Given the description of an element on the screen output the (x, y) to click on. 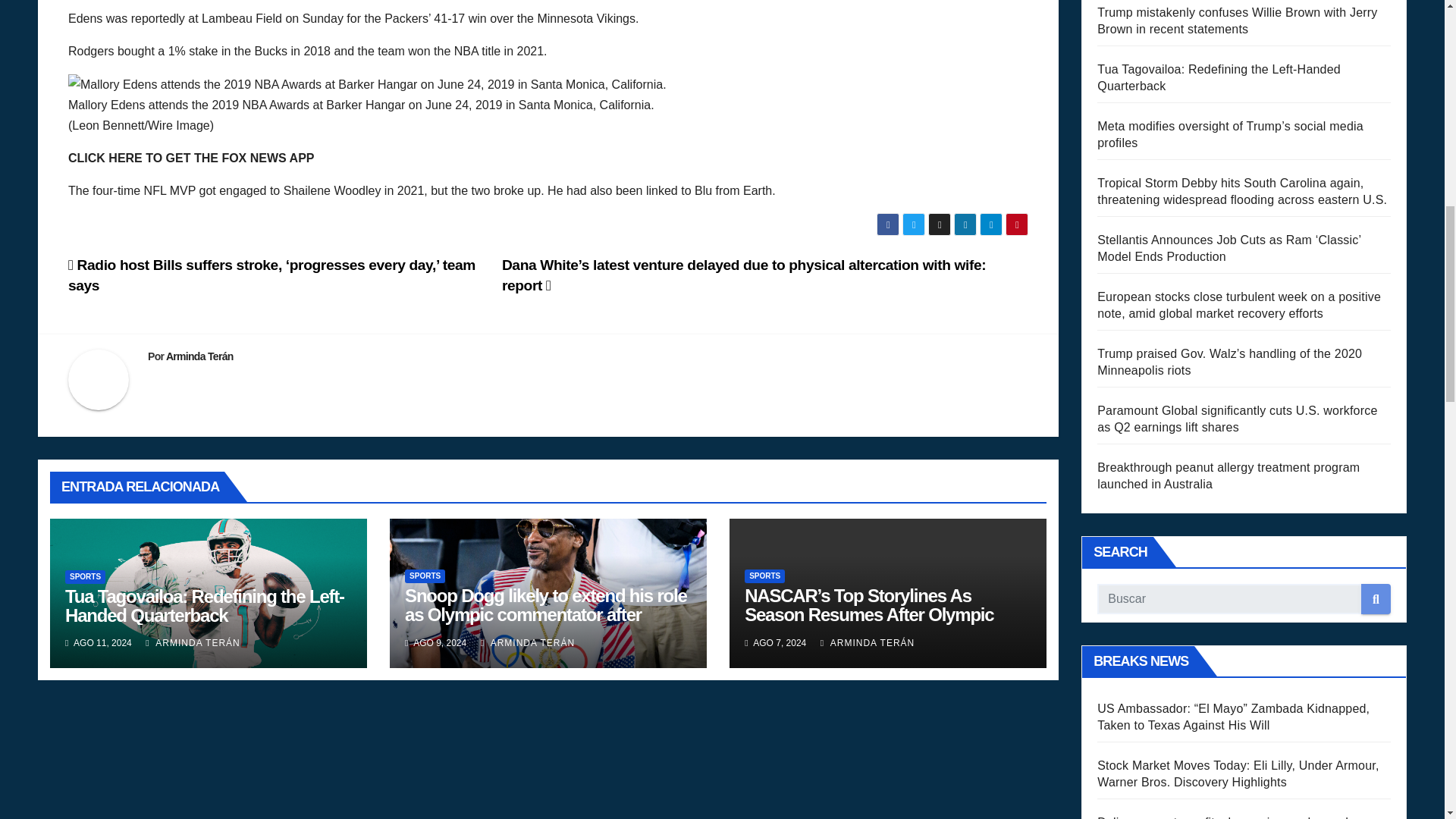
Tua Tagovailoa: Redefining the Left-Handed Quarterback (204, 605)
SPORTS (424, 576)
SPORTS (84, 576)
SPORTS (764, 576)
